Given the description of an element on the screen output the (x, y) to click on. 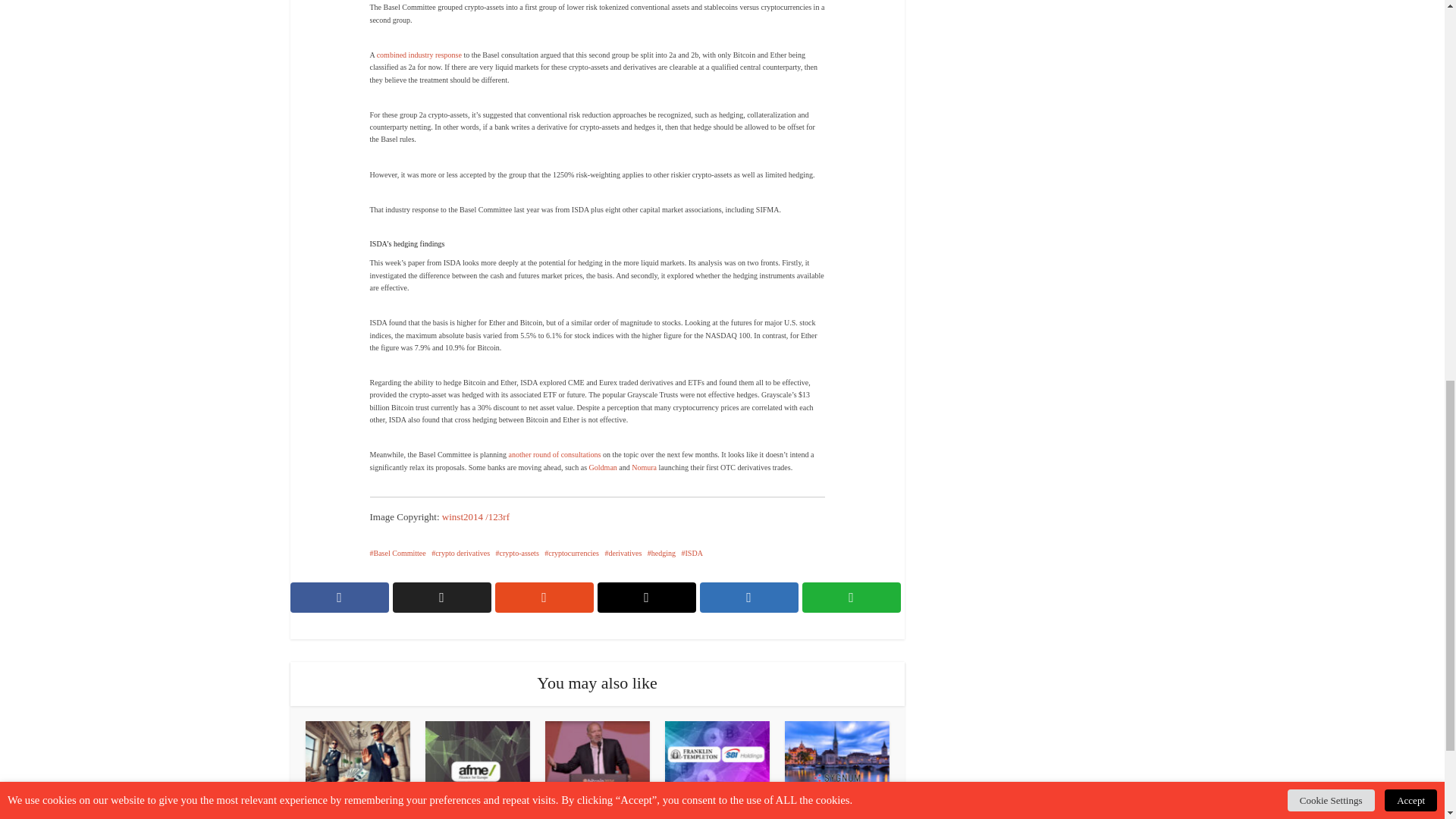
Analysis: Cantor Fitzgerald to launch Bitcoin lending (596, 756)
AFME provides an action plan for European tokenization (477, 756)
Analysis: Cantor Fitzgerald to launch Bitcoin lending (597, 811)
AFME provides an action plan for European tokenization (477, 811)
